Given the description of an element on the screen output the (x, y) to click on. 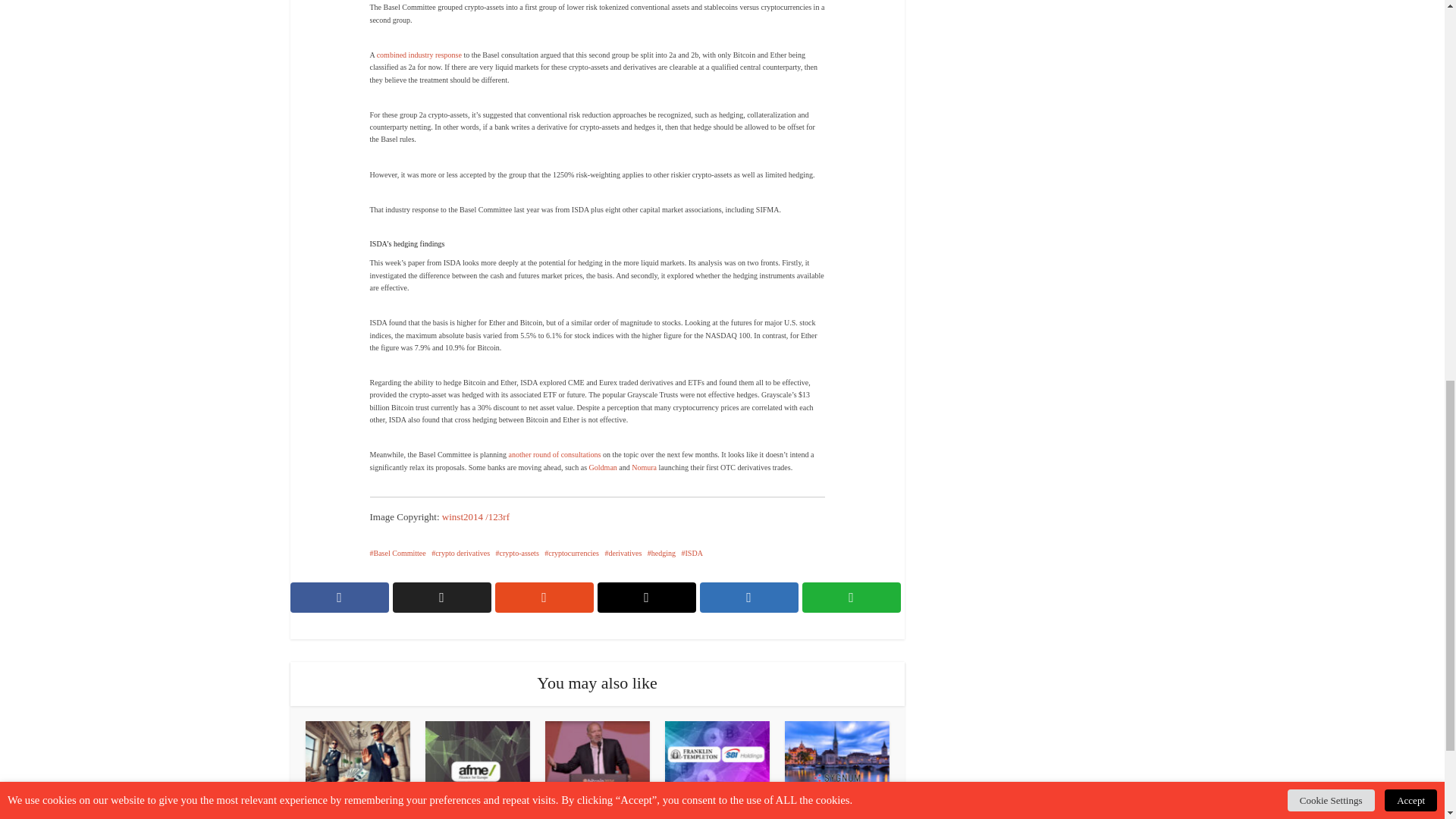
Analysis: Cantor Fitzgerald to launch Bitcoin lending (596, 756)
AFME provides an action plan for European tokenization (477, 756)
Analysis: Cantor Fitzgerald to launch Bitcoin lending (597, 811)
AFME provides an action plan for European tokenization (477, 811)
